Given the description of an element on the screen output the (x, y) to click on. 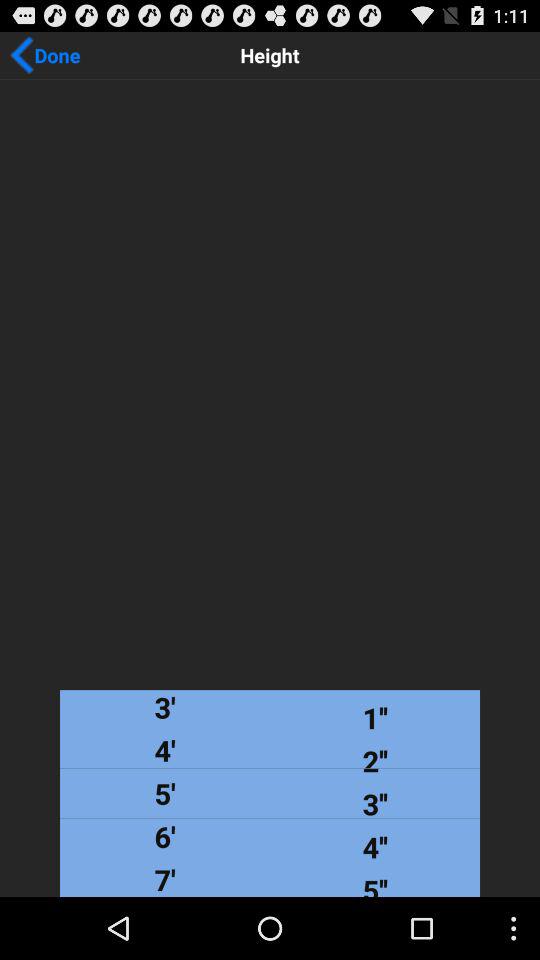
press the done at the top left corner (45, 55)
